Given the description of an element on the screen output the (x, y) to click on. 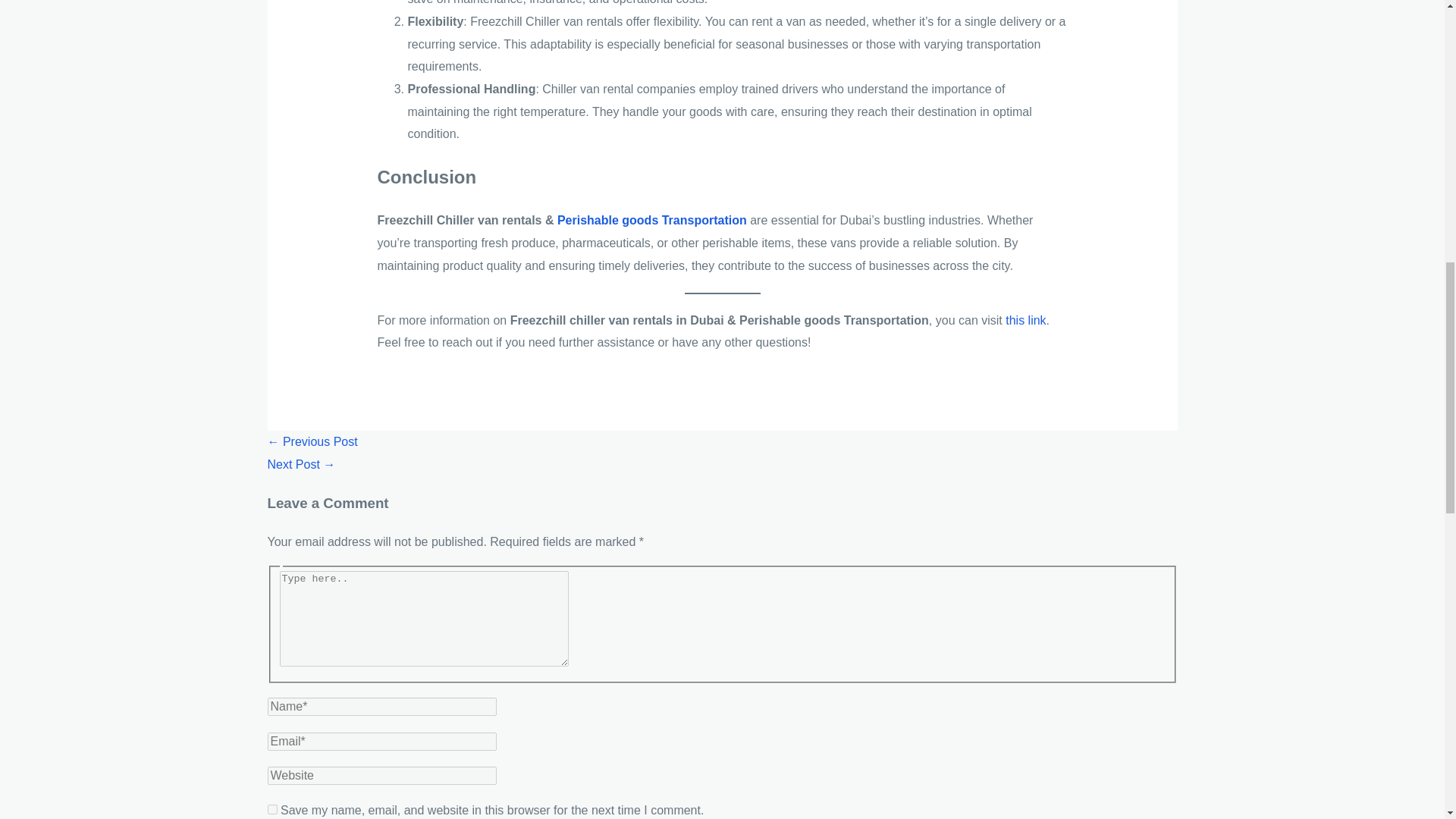
Medicine Delivery Van for Rent in Dubai (300, 463)
What are Chiller Vans?. Do we need them in Dubai (311, 440)
Perishable goods Transportation (649, 219)
yes (271, 809)
this link (1025, 319)
